Given the description of an element on the screen output the (x, y) to click on. 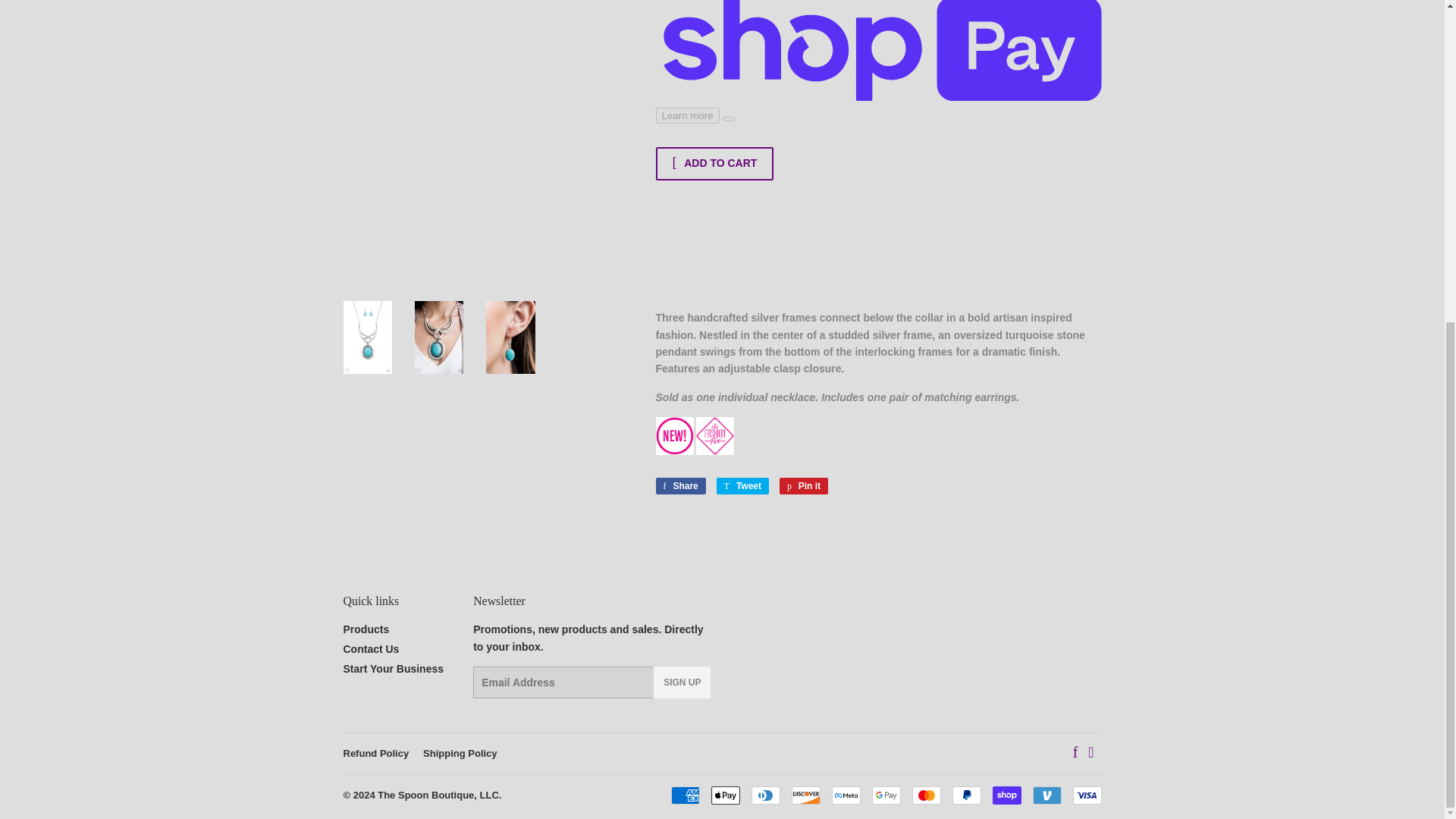
Share on Facebook (679, 485)
Apple Pay (725, 795)
Contact Us (370, 648)
American Express (803, 485)
Shipping Policy (683, 795)
PayPal (742, 485)
Tweet on Twitter (460, 753)
ADD TO CART (966, 795)
